Given the description of an element on the screen output the (x, y) to click on. 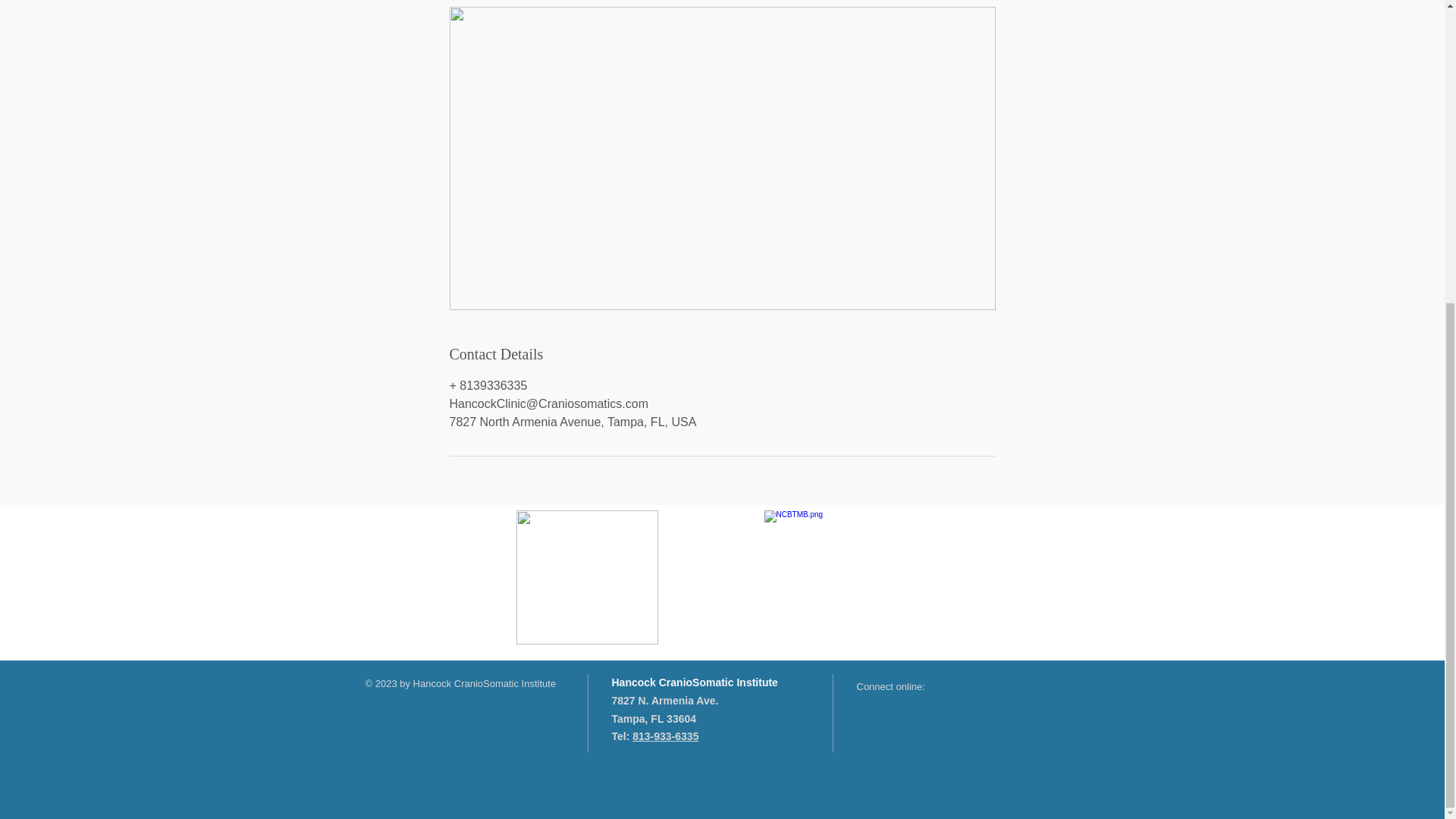
Tel: (621, 736)
813-933-6335 (664, 736)
